Given the description of an element on the screen output the (x, y) to click on. 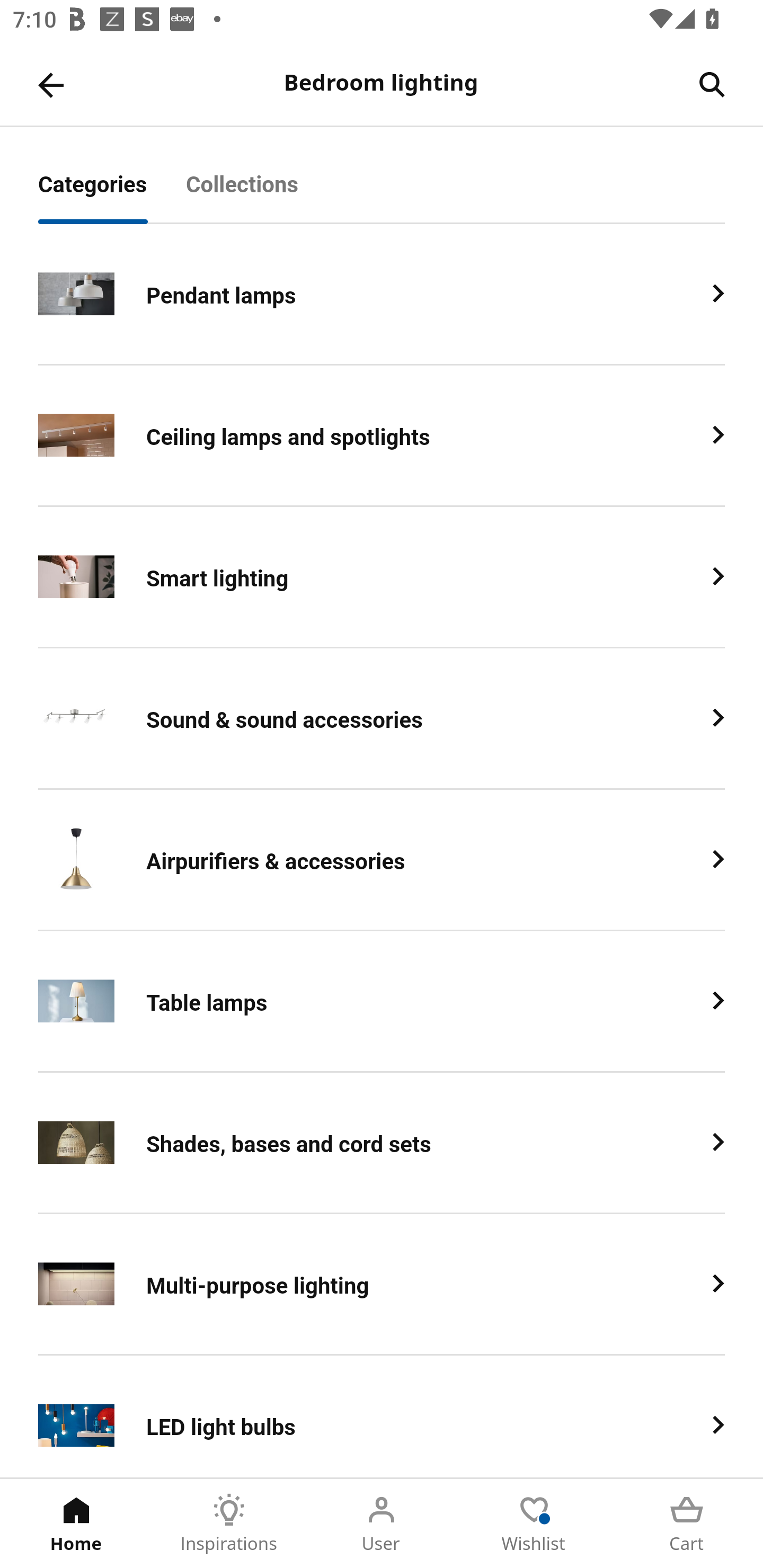
Categories
Tab 1 of 2 (112, 194)
Collections
Tab 2 of 2 (261, 194)
Pendant lamps (381, 294)
Ceiling lamps and spotlights (381, 435)
Smart lighting (381, 577)
Sound & sound accessories (381, 719)
Airpurifiers & accessories (381, 860)
Table lamps (381, 1001)
Shades, bases and cord sets (381, 1142)
Multi-purpose lighting (381, 1284)
LED light bulbs (381, 1416)
Home
Tab 1 of 5 (76, 1522)
Inspirations
Tab 2 of 5 (228, 1522)
User
Tab 3 of 5 (381, 1522)
Wishlist
Tab 4 of 5 (533, 1522)
Cart
Tab 5 of 5 (686, 1522)
